Given the description of an element on the screen output the (x, y) to click on. 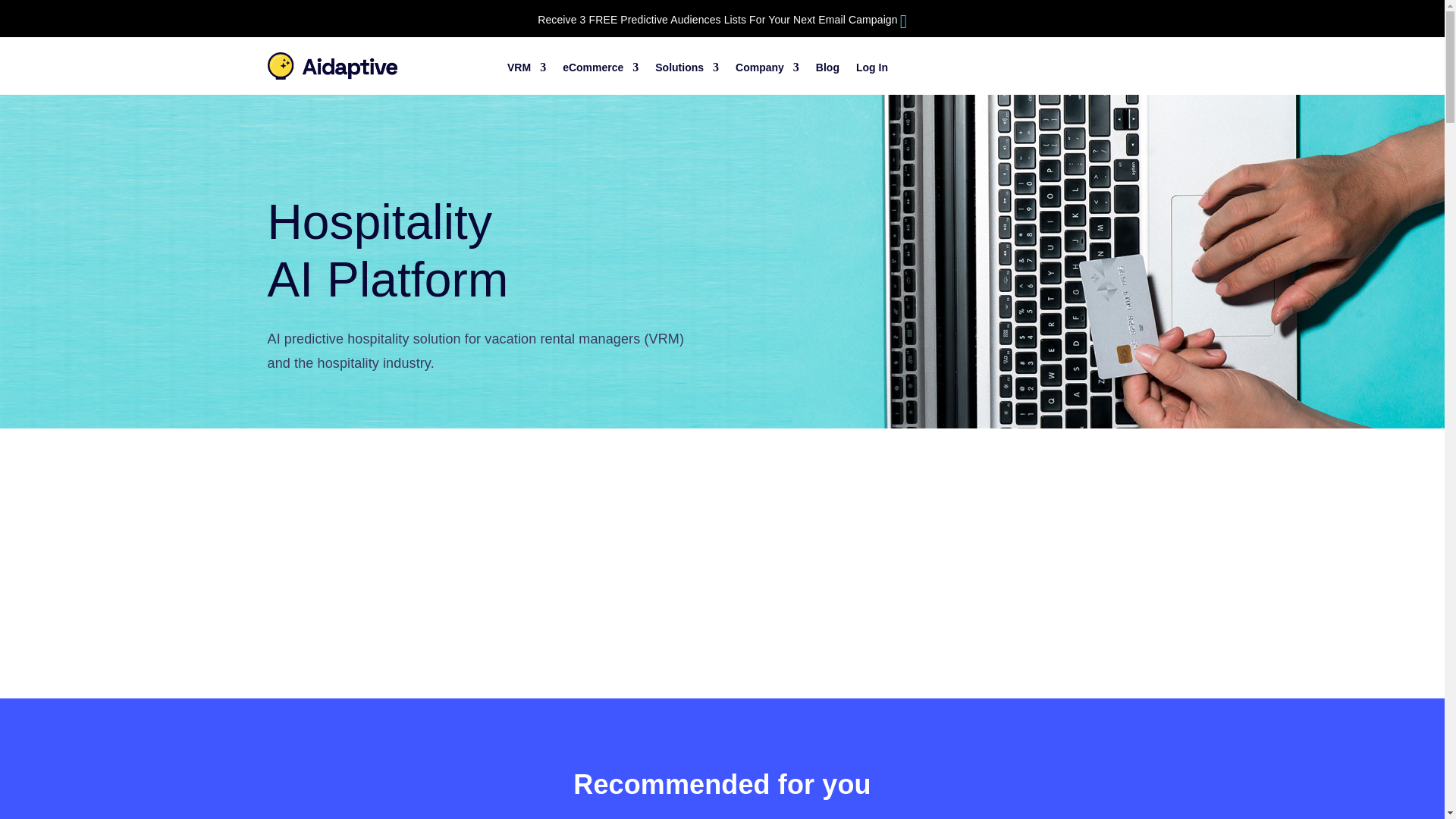
Blog (827, 70)
Company (767, 70)
VRM (526, 70)
Log In (872, 70)
Solutions (687, 70)
eCommerce (600, 70)
